Given the description of an element on the screen output the (x, y) to click on. 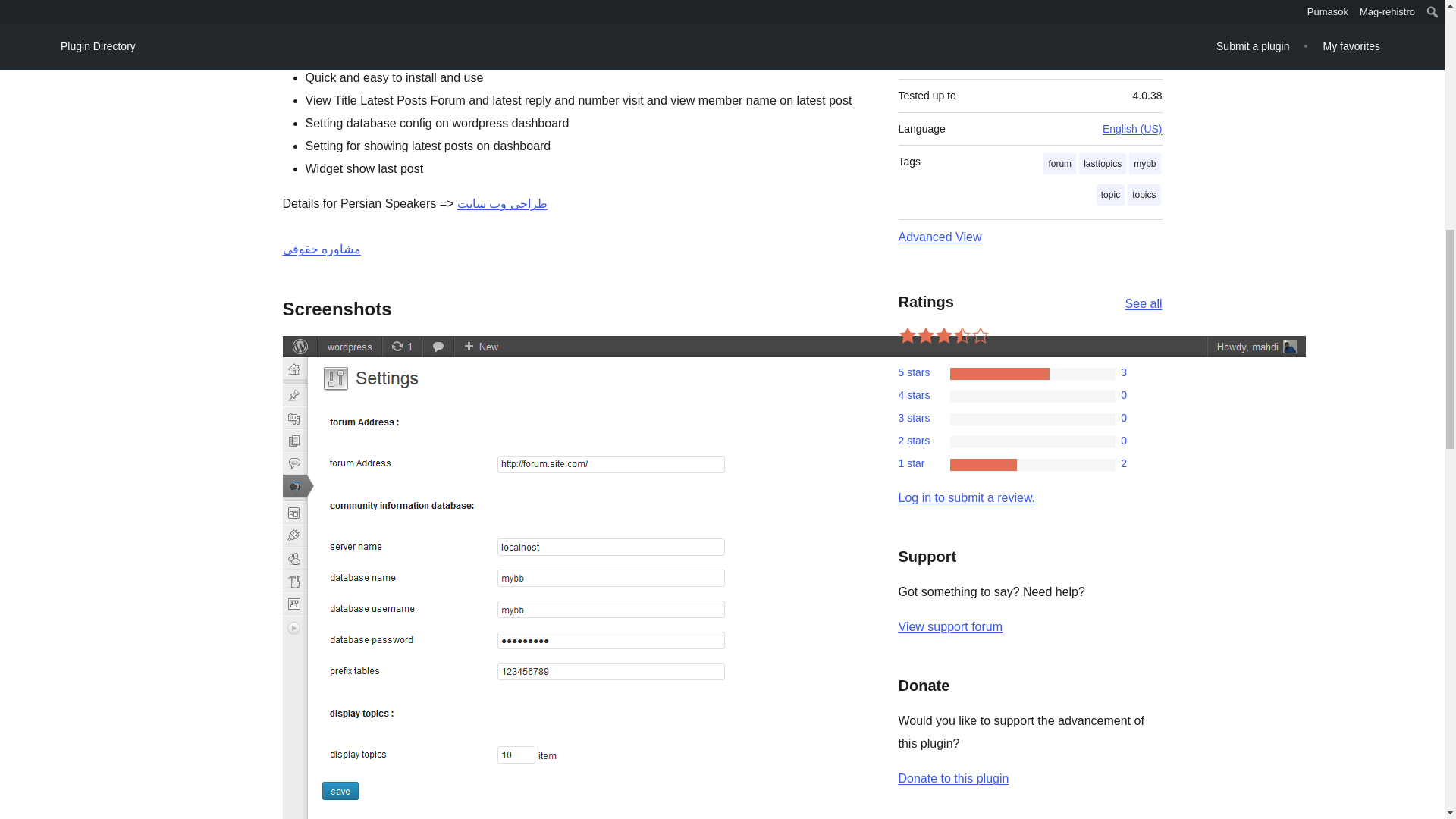
Log in to WordPress.org (966, 497)
